Given the description of an element on the screen output the (x, y) to click on. 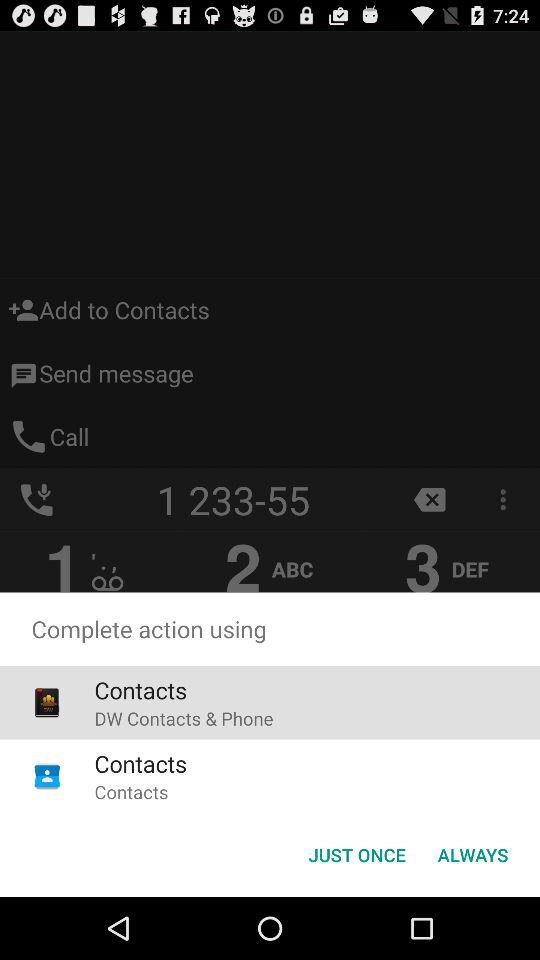
scroll to the just once button (356, 854)
